Given the description of an element on the screen output the (x, y) to click on. 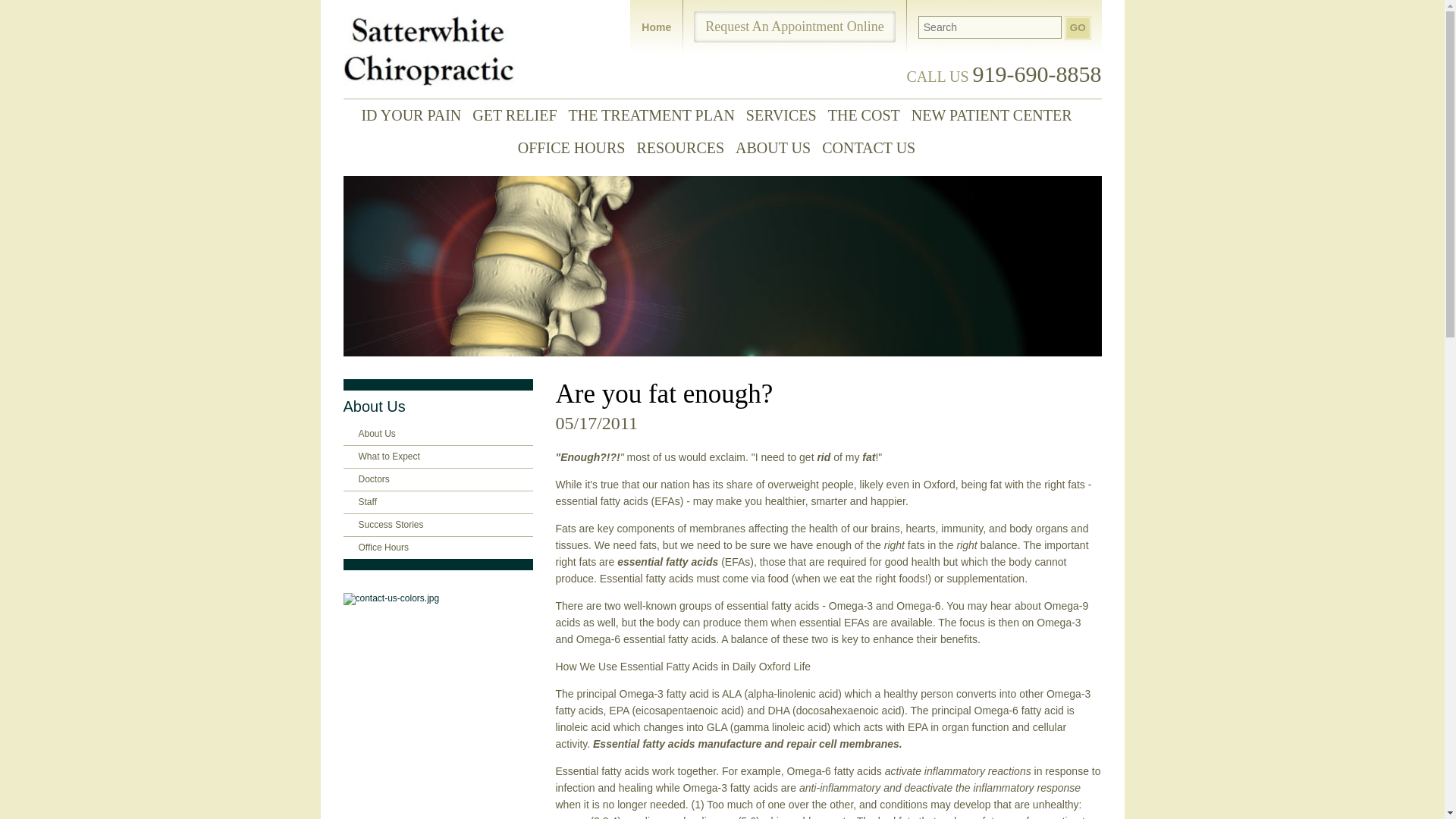
Go (1077, 27)
THE TREATMENT PLAN (657, 115)
SERVICES (786, 115)
Satterwhite Chiropractic (427, 48)
GET RELIEF (519, 115)
contact-us-colors.jpg (437, 598)
Request An Appointment Online (794, 26)
919-690-8858 (1037, 73)
Home (656, 27)
ID YOUR PAIN (416, 115)
